Given the description of an element on the screen output the (x, y) to click on. 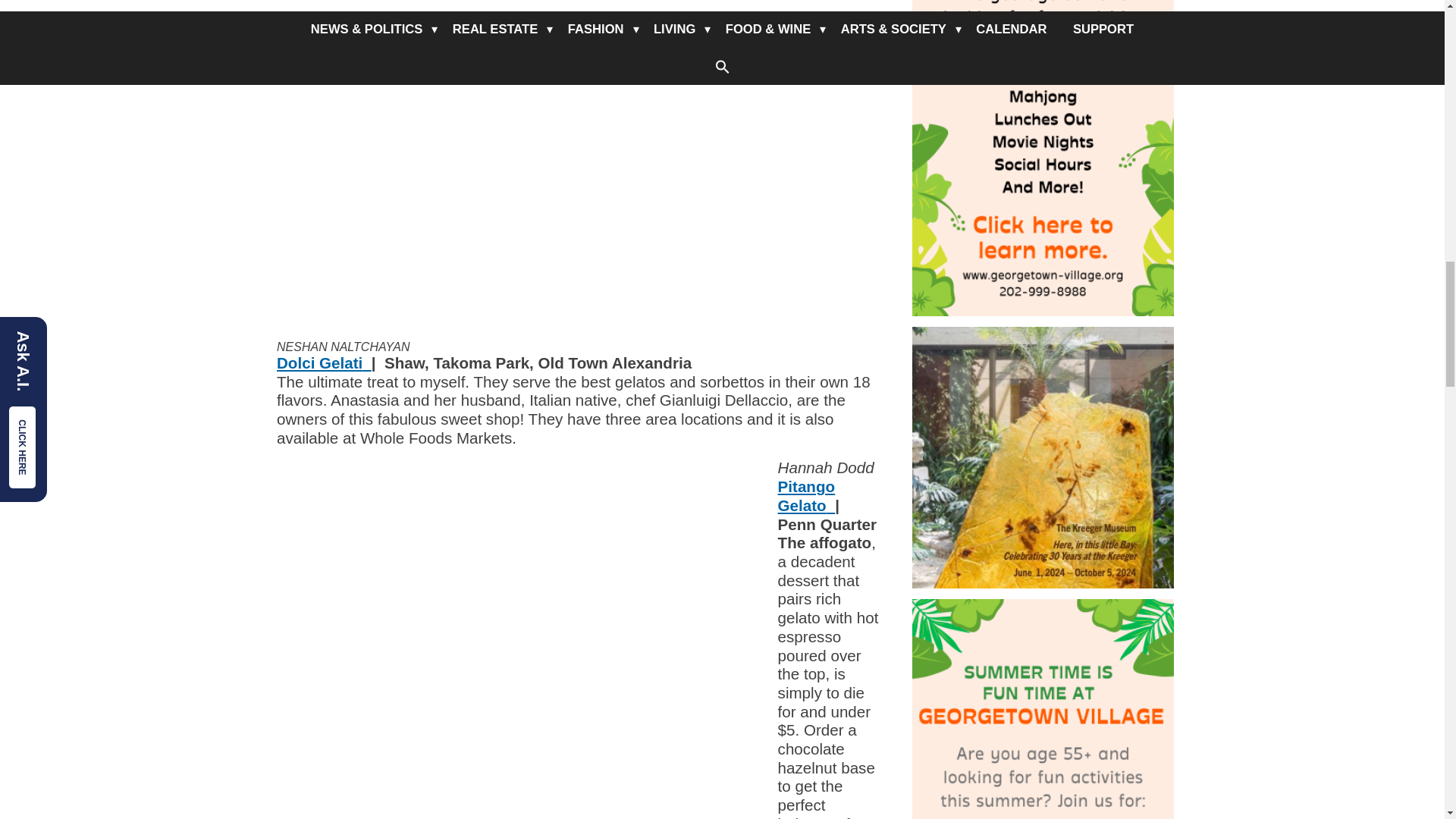
Georgetown Village Summer 2024 (1042, 708)
Kreeger July-August 2024 (1042, 457)
